Given the description of an element on the screen output the (x, y) to click on. 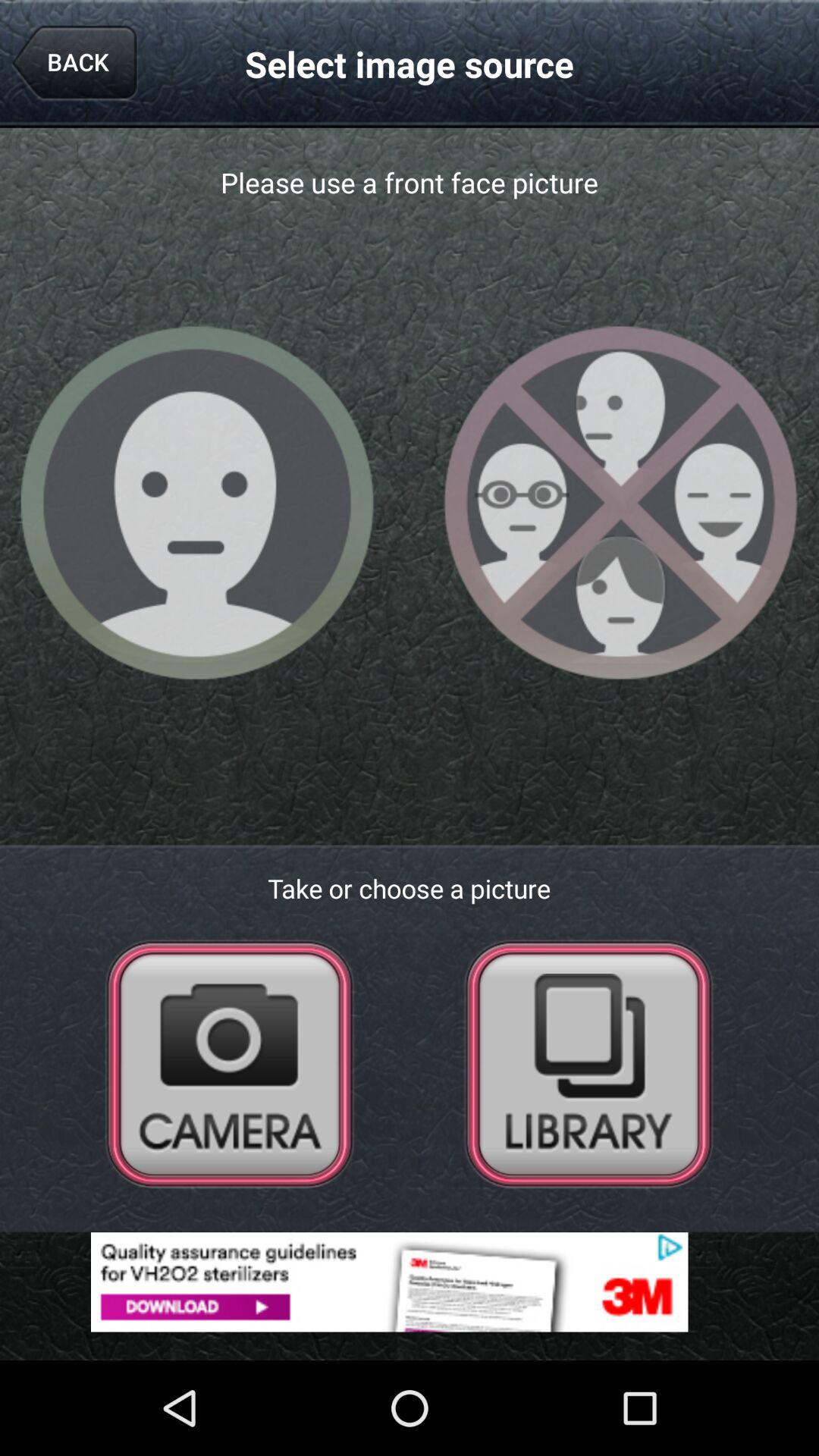
open the camera (229, 1063)
